Given the description of an element on the screen output the (x, y) to click on. 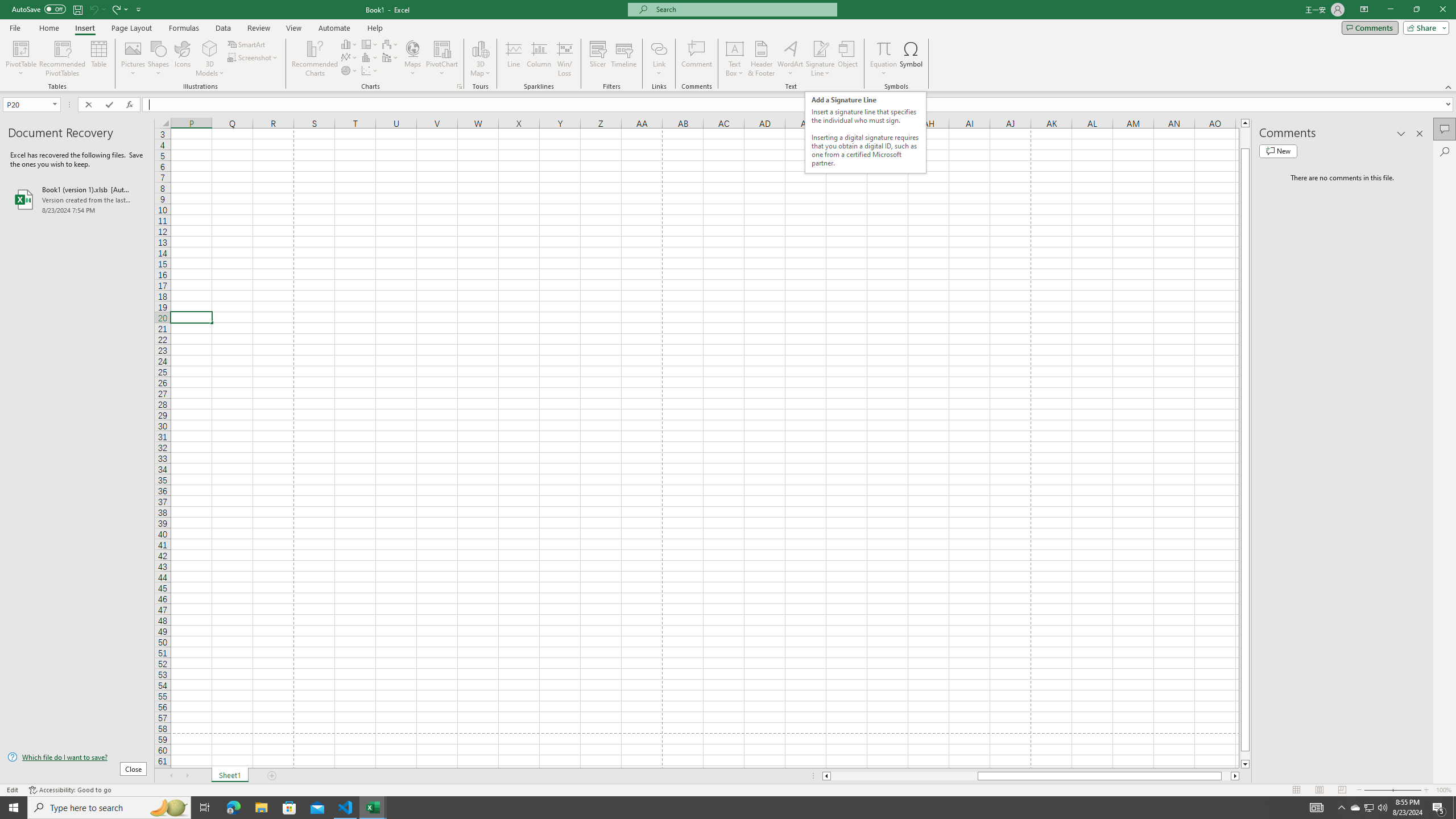
Equation (883, 48)
Maps (412, 58)
Comment (696, 58)
Table (98, 58)
Pictures (133, 58)
Insert Hierarchy Chart (369, 44)
Object... (847, 58)
